Given the description of an element on the screen output the (x, y) to click on. 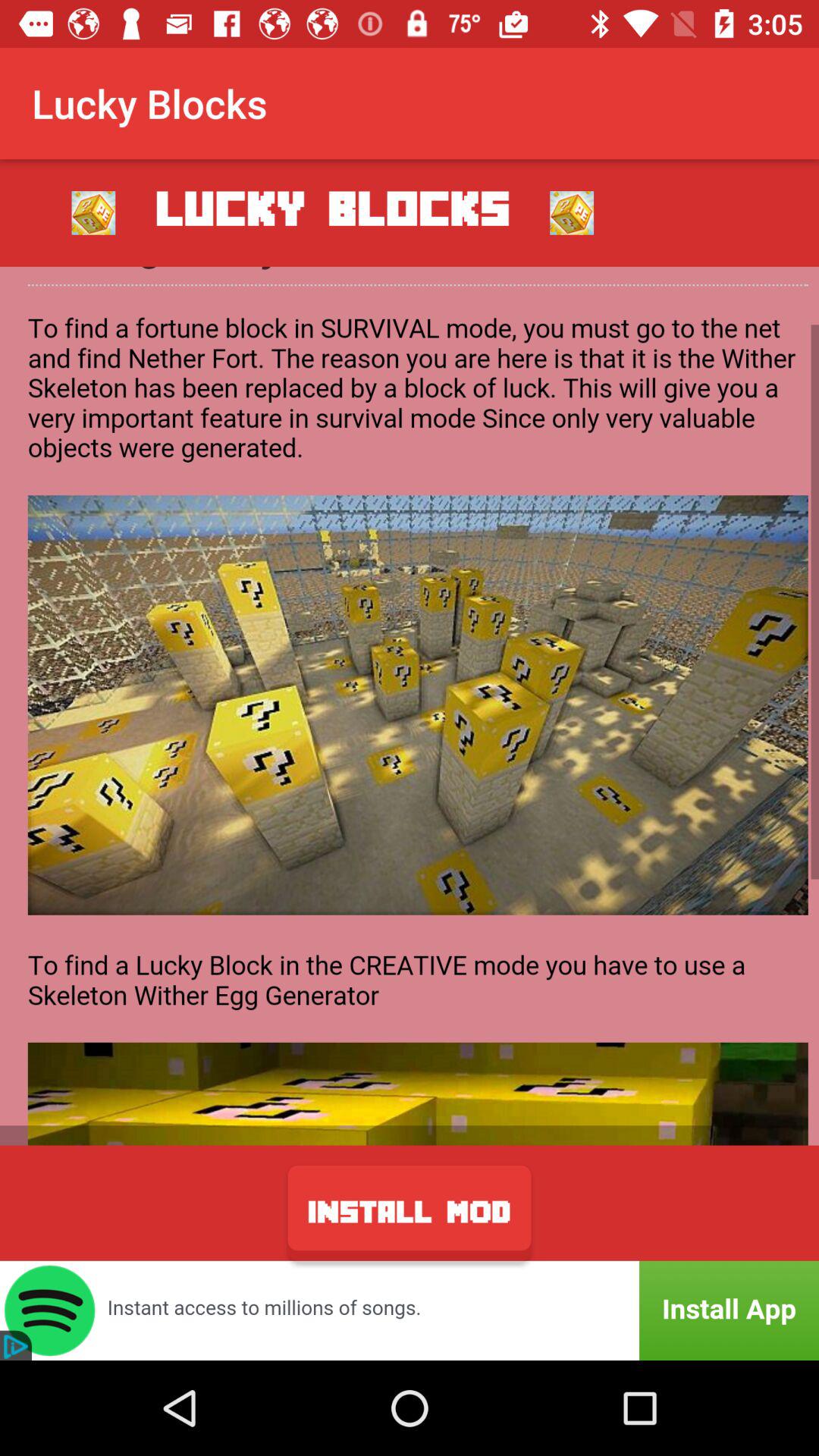
share the article (409, 705)
